Given the description of an element on the screen output the (x, y) to click on. 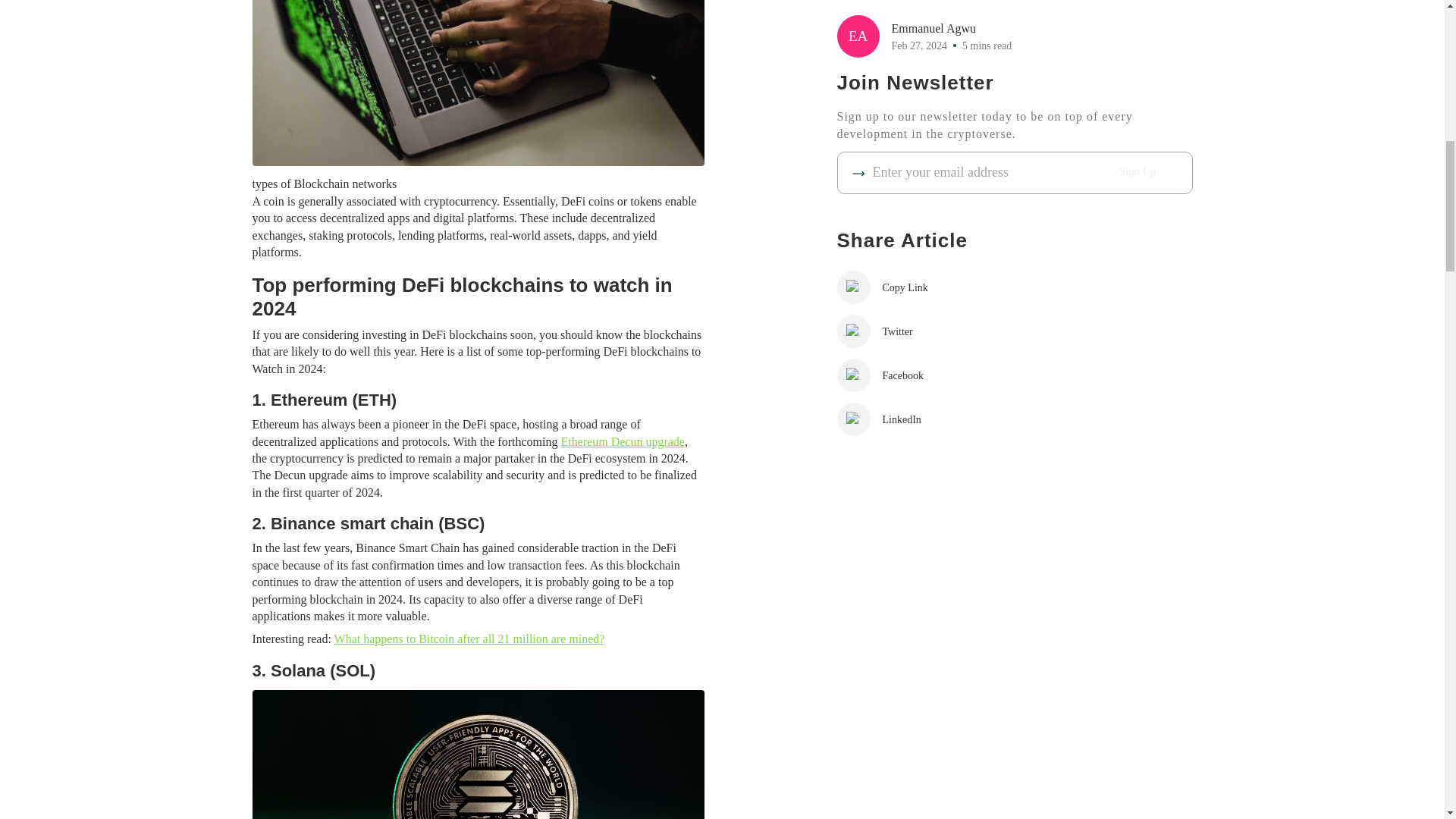
Twitter (905, 12)
LinkedIn (905, 95)
Facebook (905, 51)
What happens to Bitcoin after all 21 million are mined? (469, 638)
Ethereum Decun upgrade (622, 440)
